Given the description of an element on the screen output the (x, y) to click on. 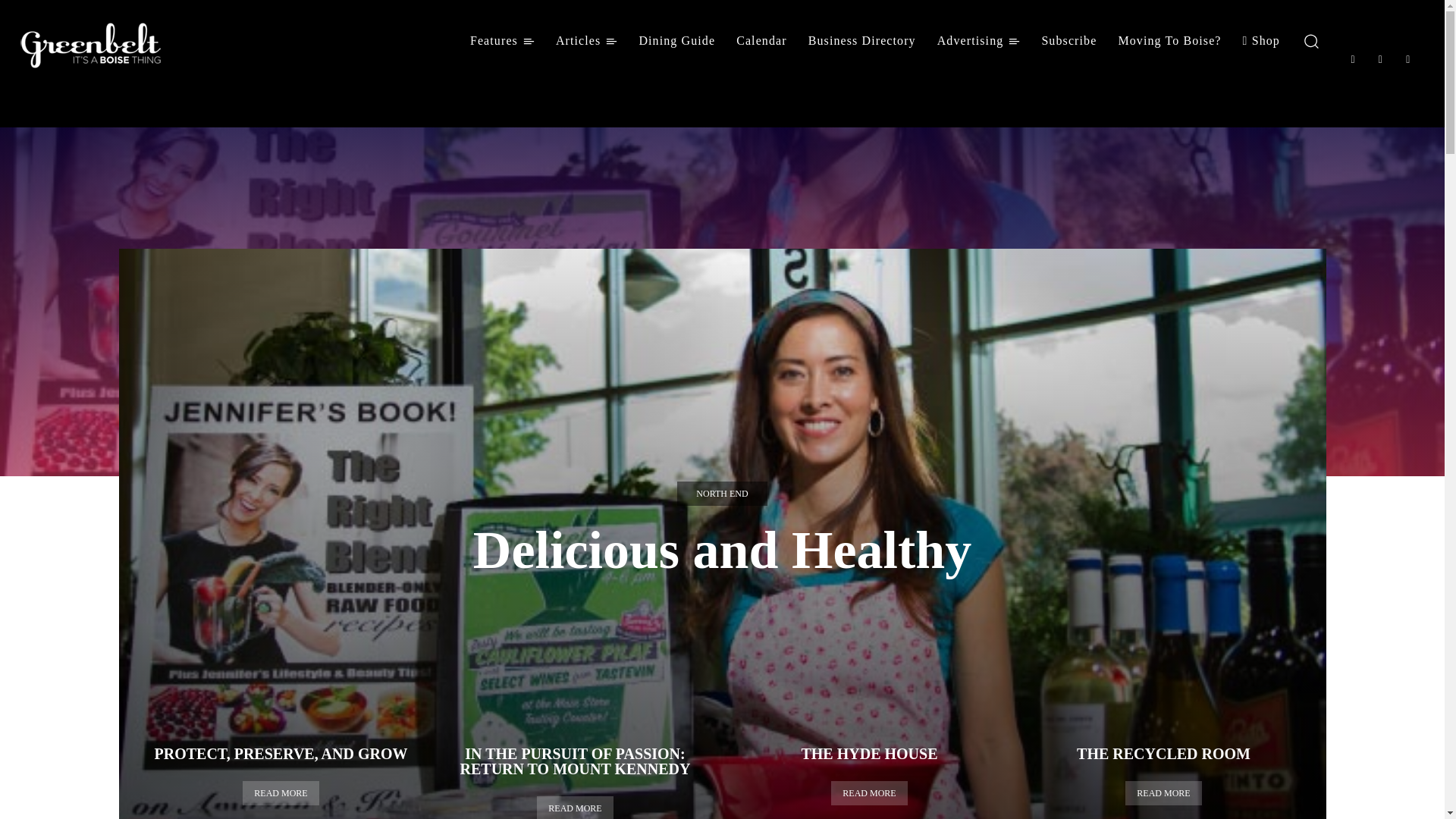
Features (502, 40)
